Given the description of an element on the screen output the (x, y) to click on. 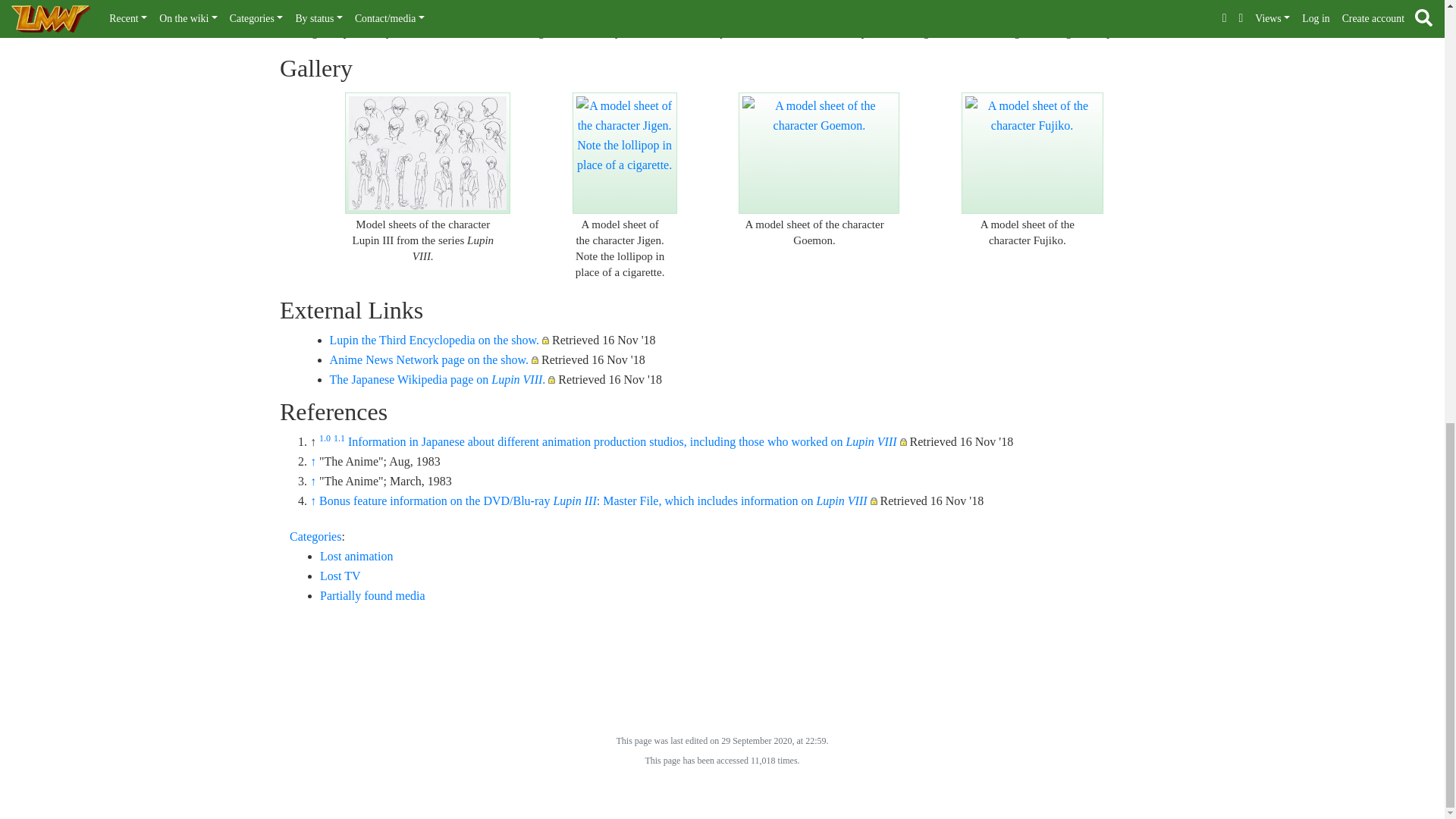
A model sheet of the character Goemon. (818, 152)
A model sheet of the character Fujiko. (1032, 152)
